Given the description of an element on the screen output the (x, y) to click on. 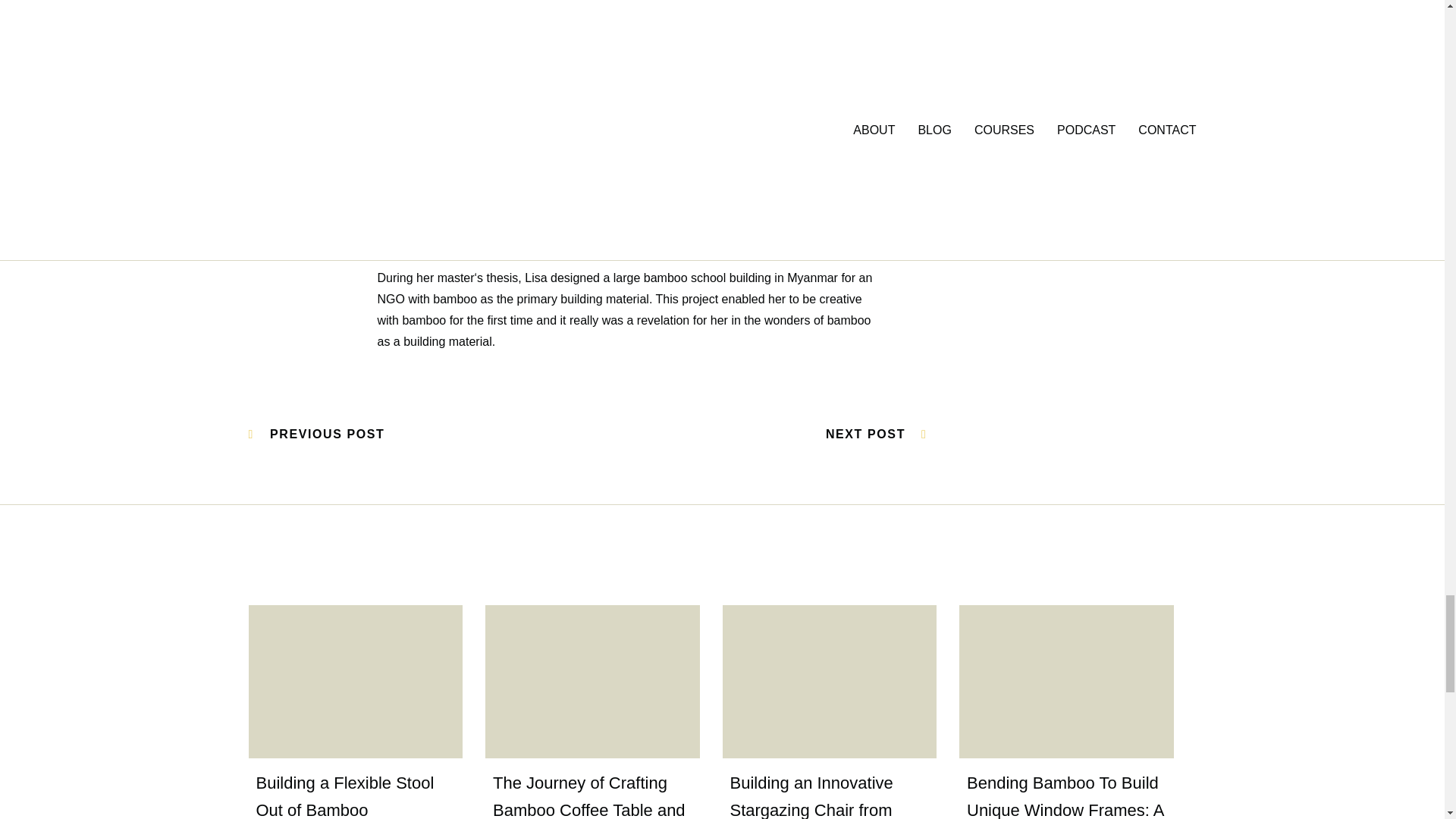
NEXT POST (876, 433)
Online Immersion (295, 124)
PREVIOUS POST (316, 433)
Building a Flexible Stool Out of Bamboo (344, 796)
